Given the description of an element on the screen output the (x, y) to click on. 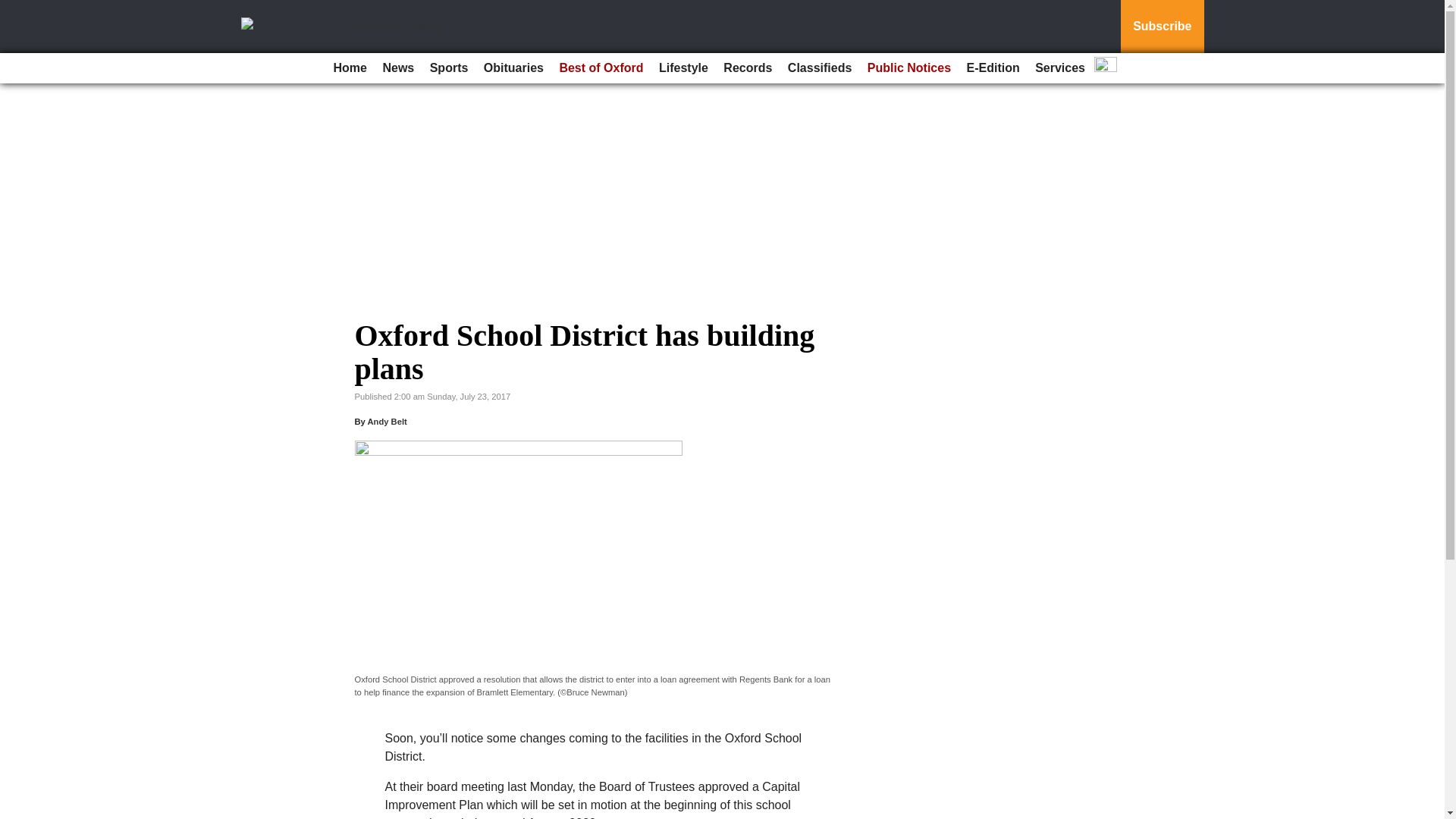
Lifestyle (683, 68)
Records (747, 68)
Public Notices (908, 68)
Home (349, 68)
Classifieds (819, 68)
Obituaries (513, 68)
Best of Oxford (601, 68)
News (397, 68)
Subscribe (1162, 26)
Sports (448, 68)
